Given the description of an element on the screen output the (x, y) to click on. 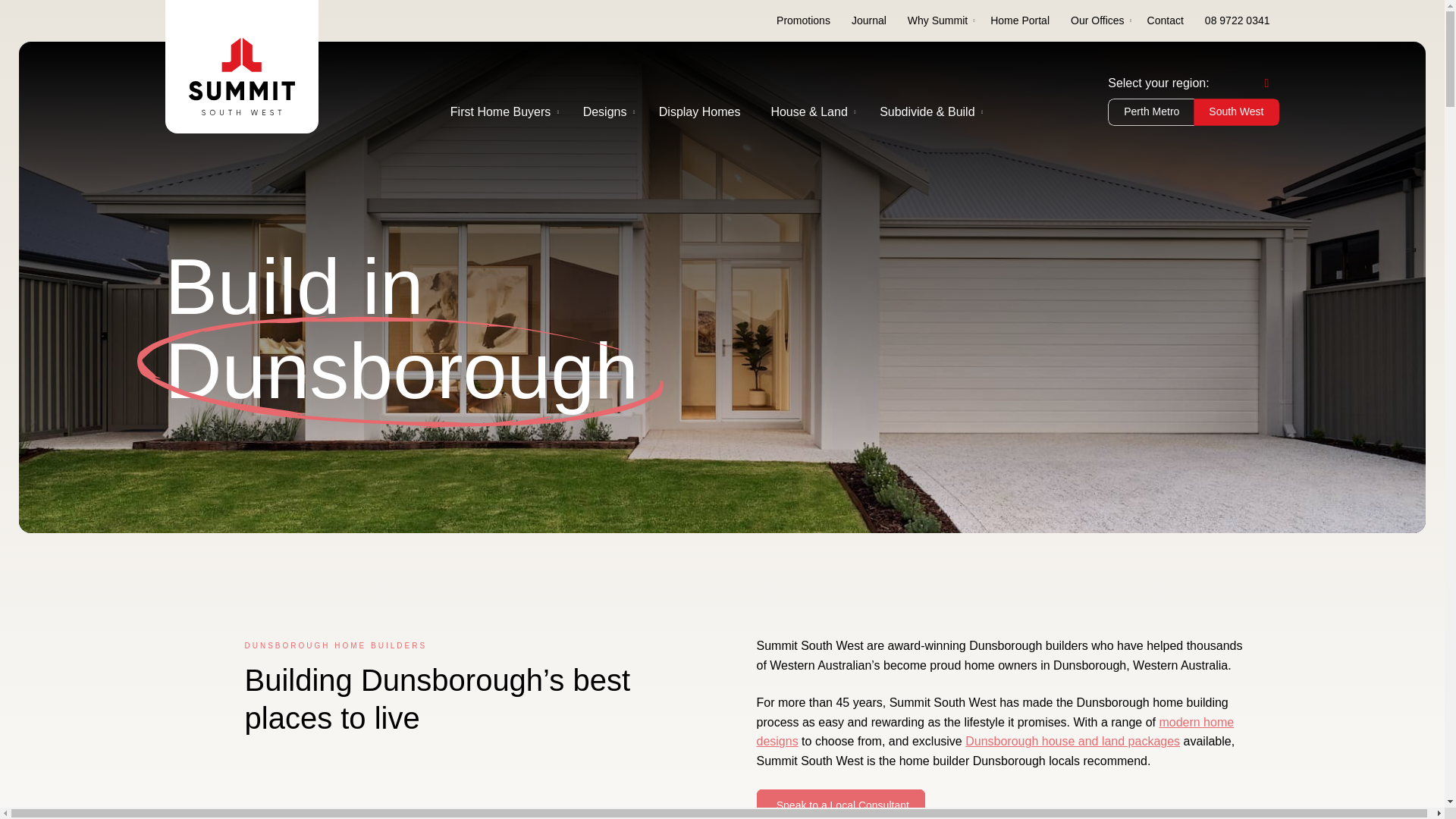
Home Portal (1019, 21)
08 9722 0341 (1237, 21)
Our Offices (1097, 21)
First Home Buyers (500, 111)
Display Homes (699, 111)
Contact (1165, 21)
Designs (604, 111)
Promotions (803, 21)
Journal (868, 21)
Why Summit (937, 21)
